Given the description of an element on the screen output the (x, y) to click on. 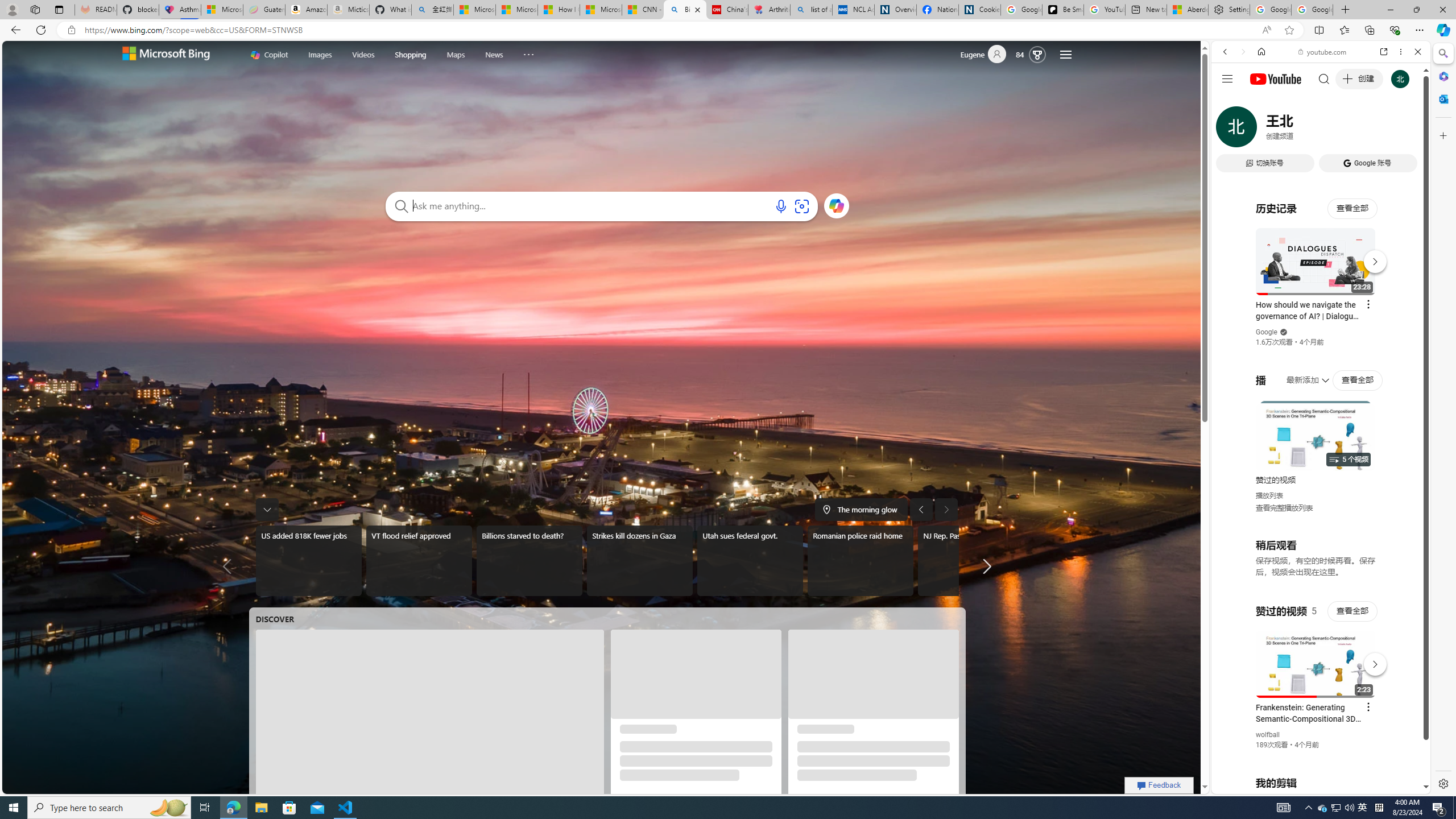
Search videos from youtube.com (1299, 373)
Images (319, 54)
CNN - MSN (642, 9)
Search using an image (801, 205)
Previous image (921, 508)
